Given the description of an element on the screen output the (x, y) to click on. 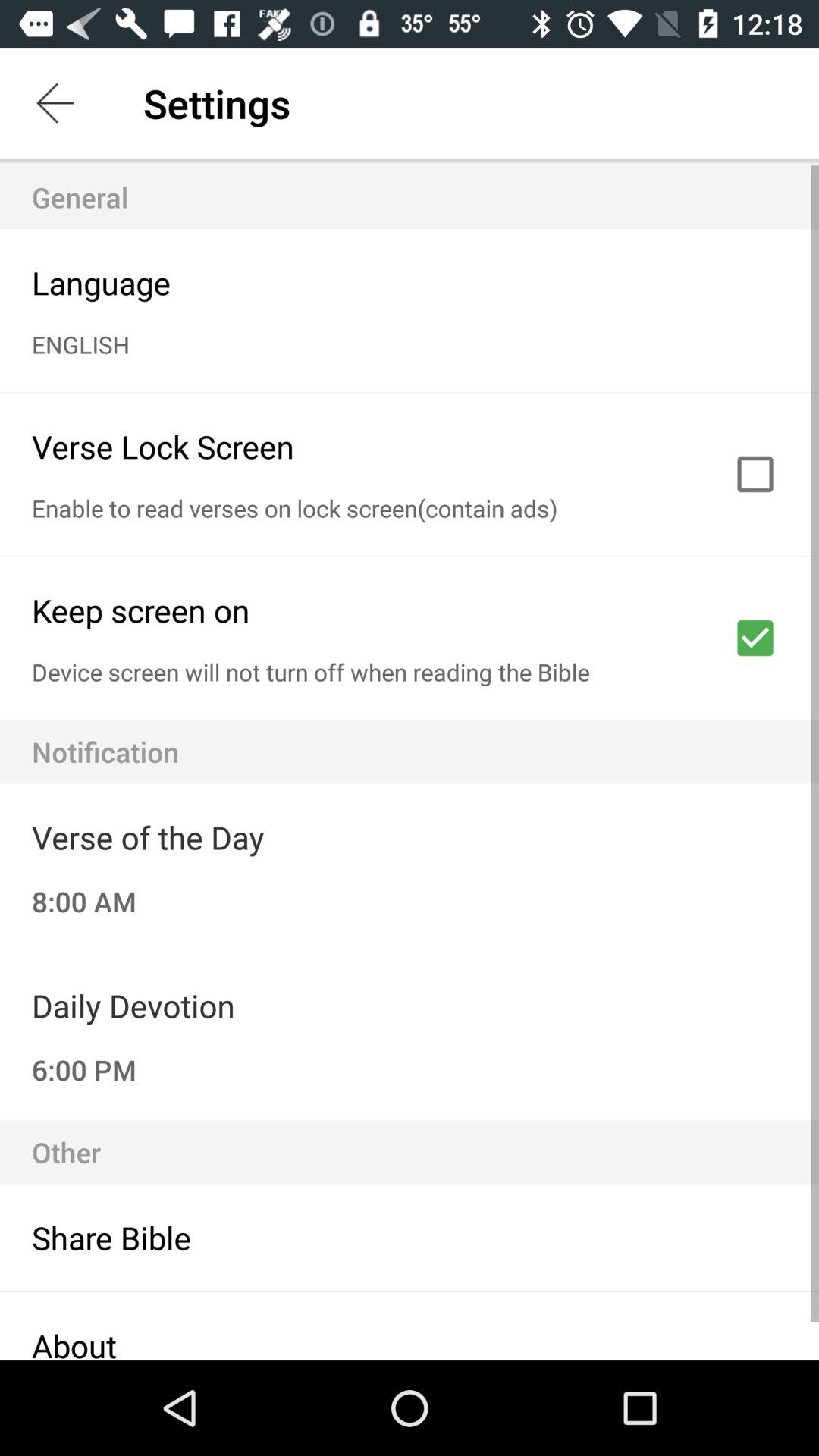
ok button (755, 637)
